Given the description of an element on the screen output the (x, y) to click on. 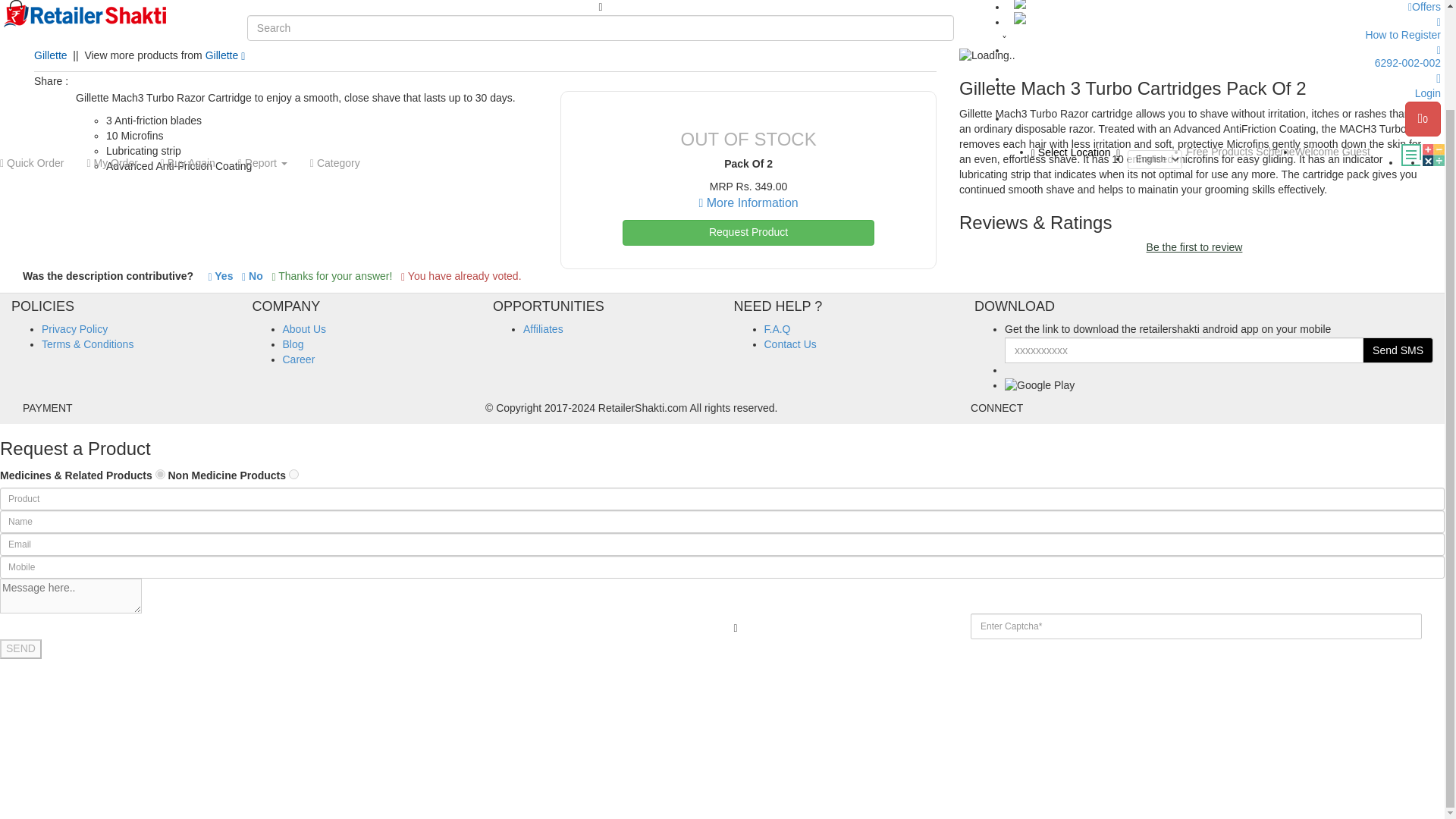
Welcome Guest (1332, 35)
Report (262, 46)
Gillette (49, 55)
0 (1423, 10)
Category (334, 46)
Free Products Scheme (1240, 35)
Gillette (225, 55)
P (160, 474)
Quick Order (37, 46)
 Select Location   (1079, 36)
